Given the description of an element on the screen output the (x, y) to click on. 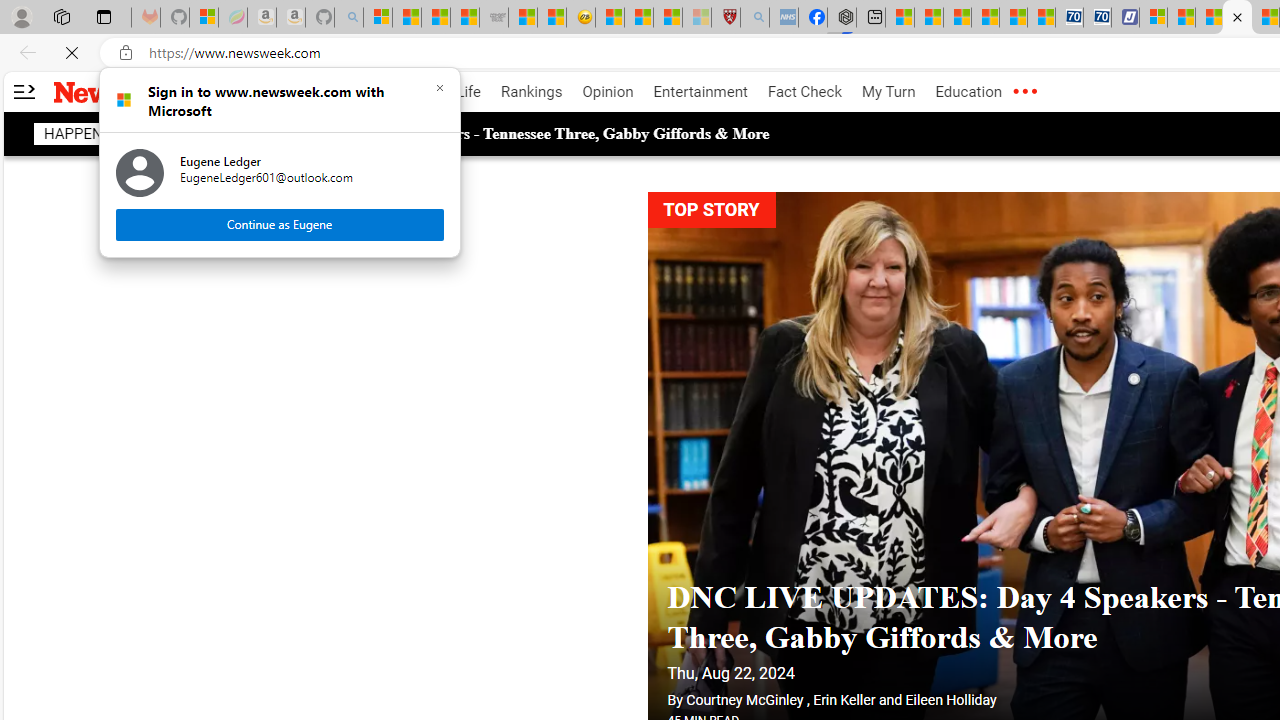
My Turn (888, 92)
My Turn (888, 92)
Fact Check (804, 92)
Erin Keller (843, 660)
Continue as Eugene (280, 224)
Robert H. Shmerling, MD - Harvard Health (725, 17)
Rankings (532, 92)
Cheap Car Rentals - Save70.com (1069, 17)
